Given the description of an element on the screen output the (x, y) to click on. 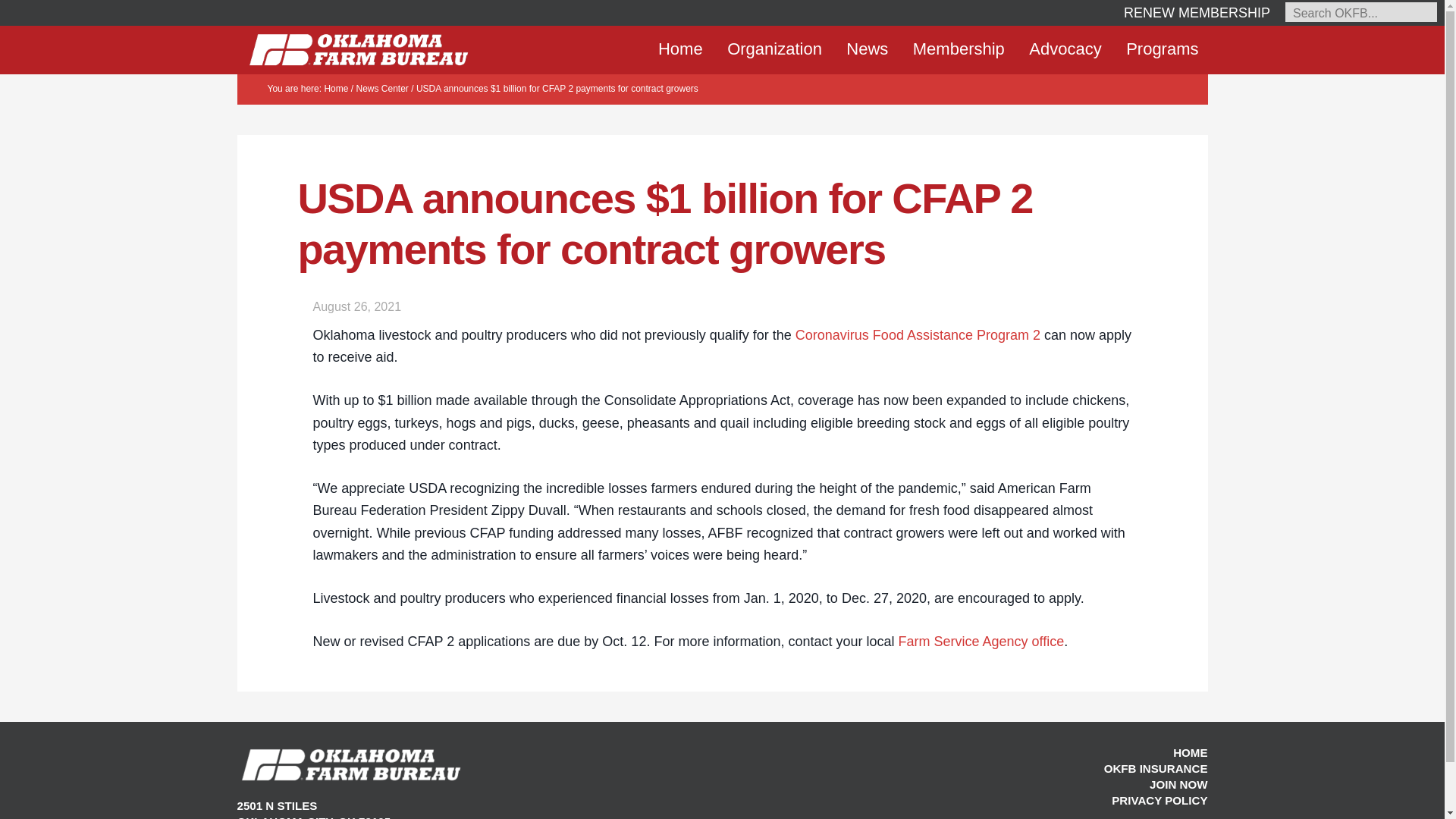
Oklahoma Farm Bureau (357, 49)
RENEW MEMBERSHIP (1196, 12)
Advocacy (1064, 48)
News (866, 48)
Organization (774, 48)
Search (50, 129)
Membership (958, 48)
Home (680, 48)
